Given the description of an element on the screen output the (x, y) to click on. 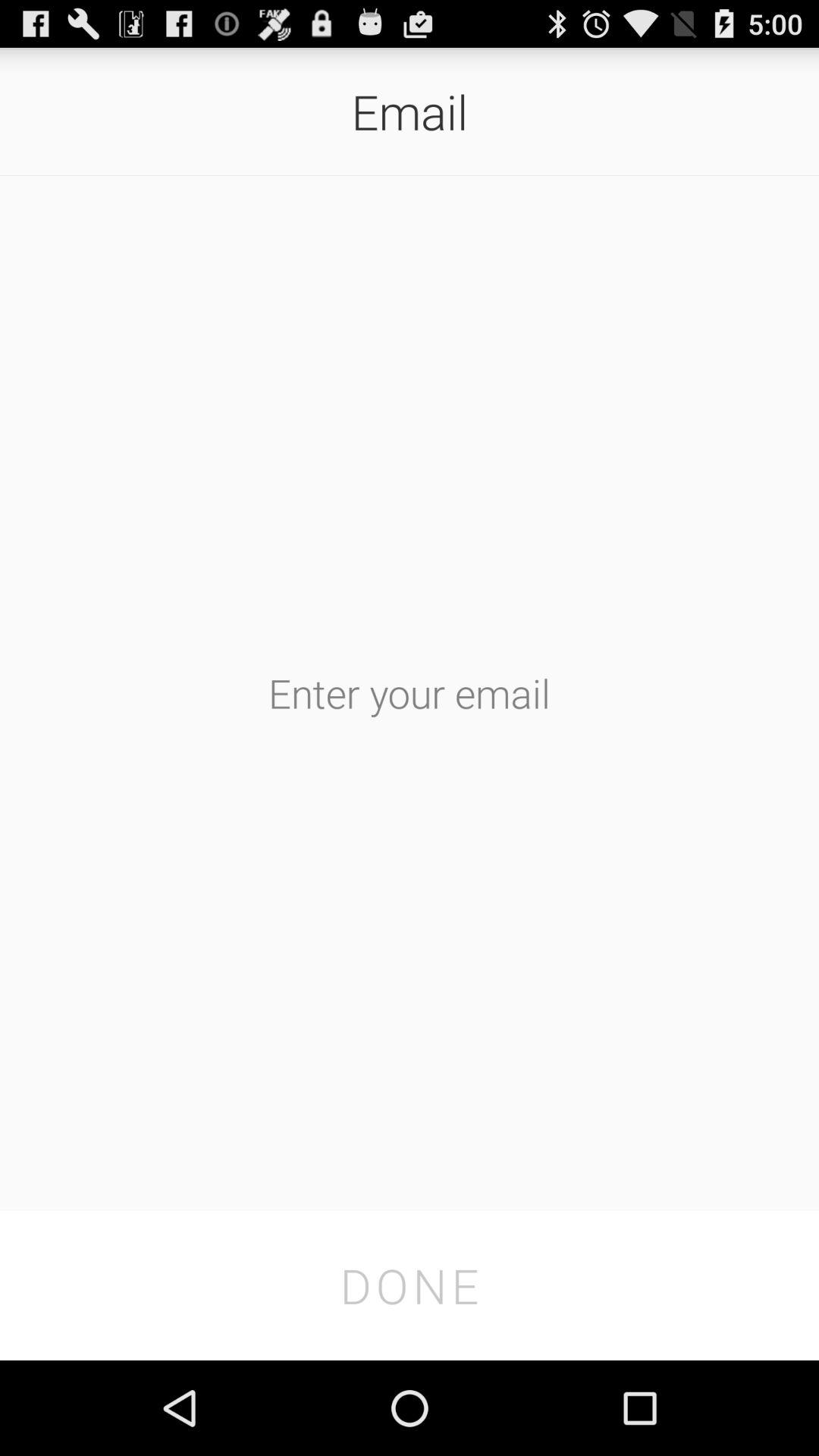
swipe to done (409, 1285)
